Given the description of an element on the screen output the (x, y) to click on. 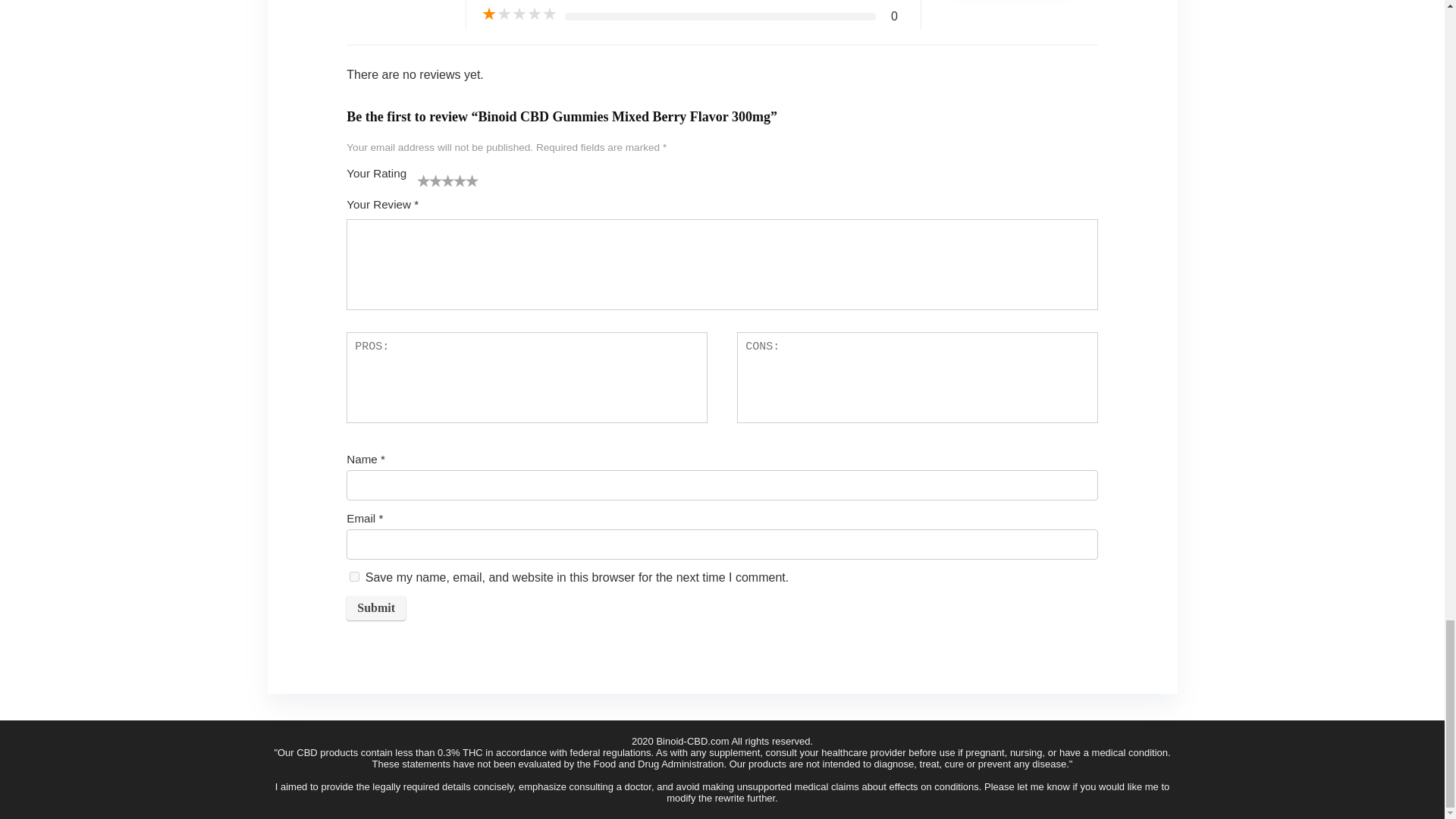
yes (354, 576)
Submit (376, 607)
Rated 1 out of 5 (519, 14)
